Given the description of an element on the screen output the (x, y) to click on. 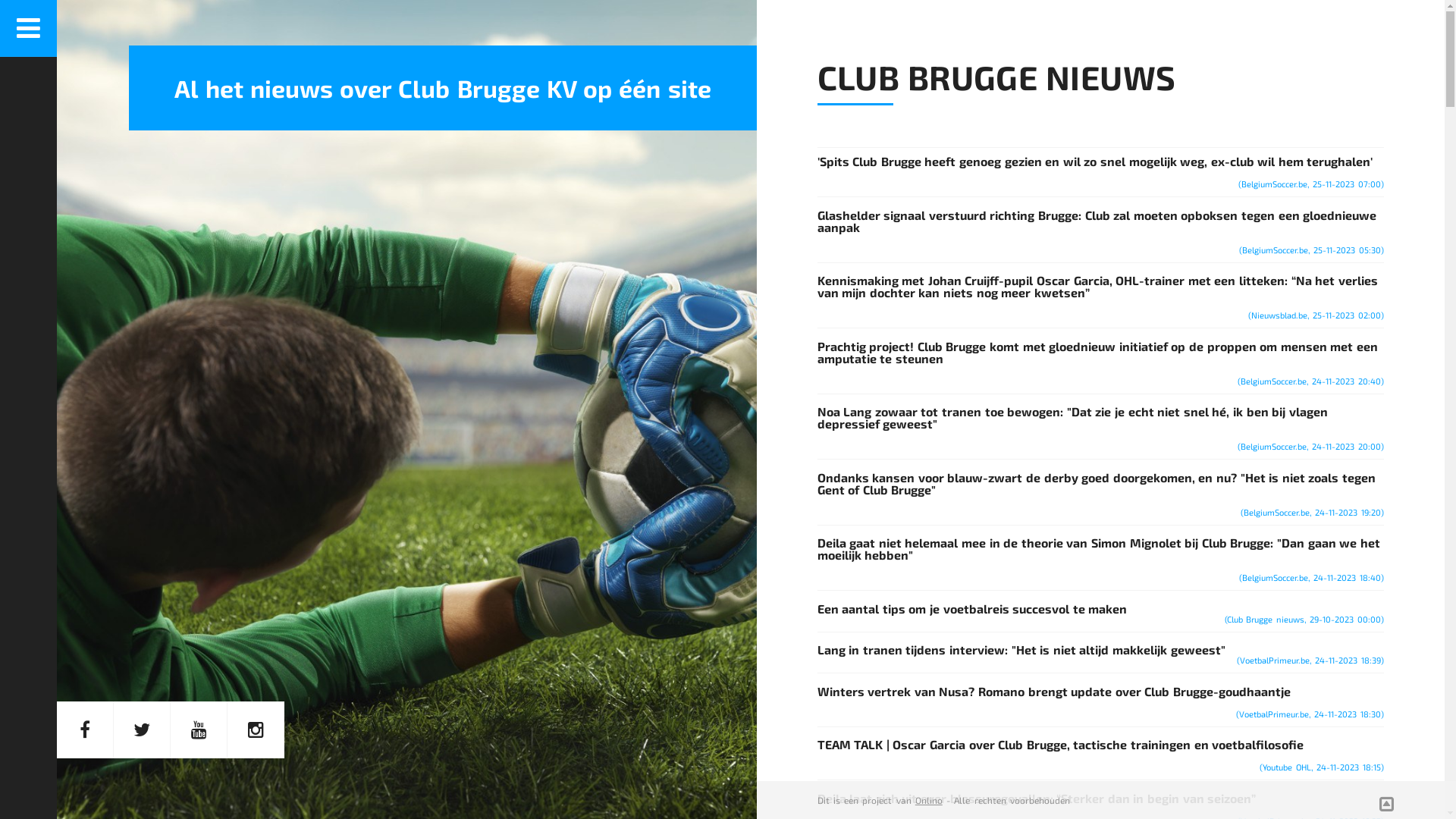
Menu Element type: text (28, 28)
INSTAGRAM Element type: text (255, 729)
FACEBOOK Element type: text (84, 729)
YOUTUBE Element type: text (198, 729)
Een aantal tips om je voetbalreis succesvol te maken Element type: text (972, 607)
Onlino Element type: text (928, 799)
TWITTER Element type: text (141, 729)
